Given the description of an element on the screen output the (x, y) to click on. 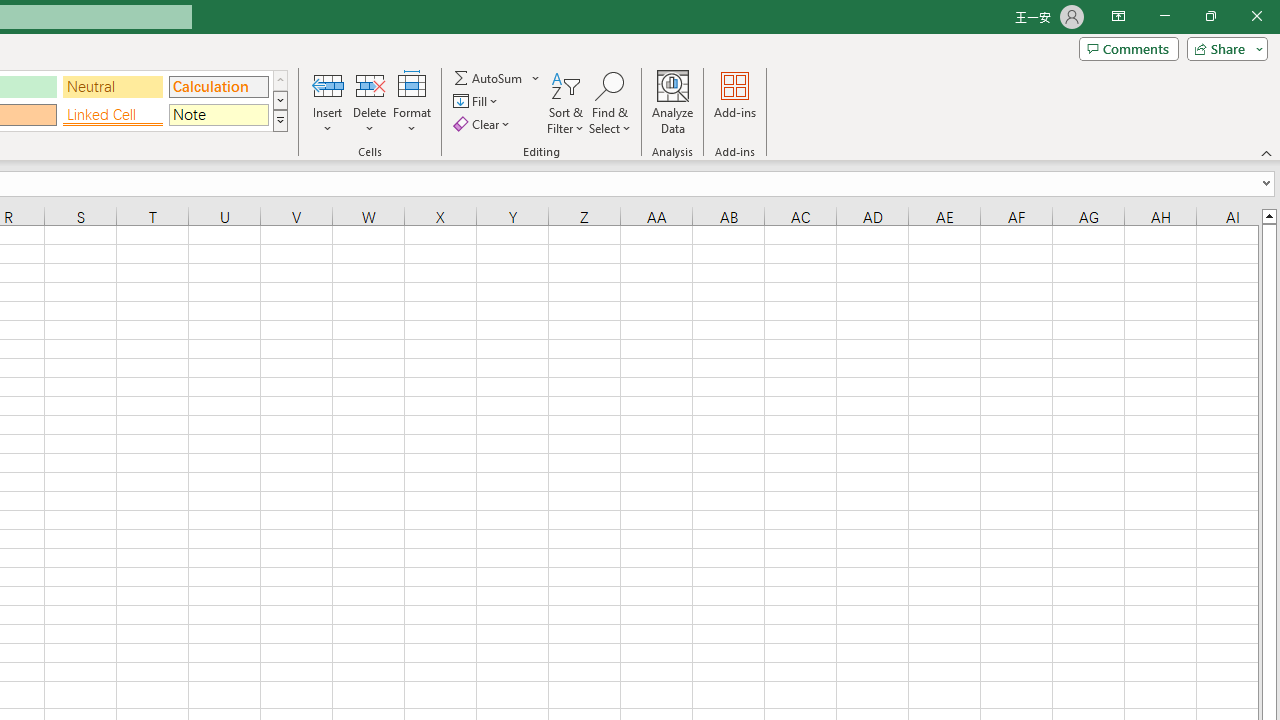
Linked Cell (113, 114)
Calculation (218, 86)
Neutral (113, 86)
Note (218, 114)
Delete Cells... (369, 84)
Insert Cells (328, 84)
